Given the description of an element on the screen output the (x, y) to click on. 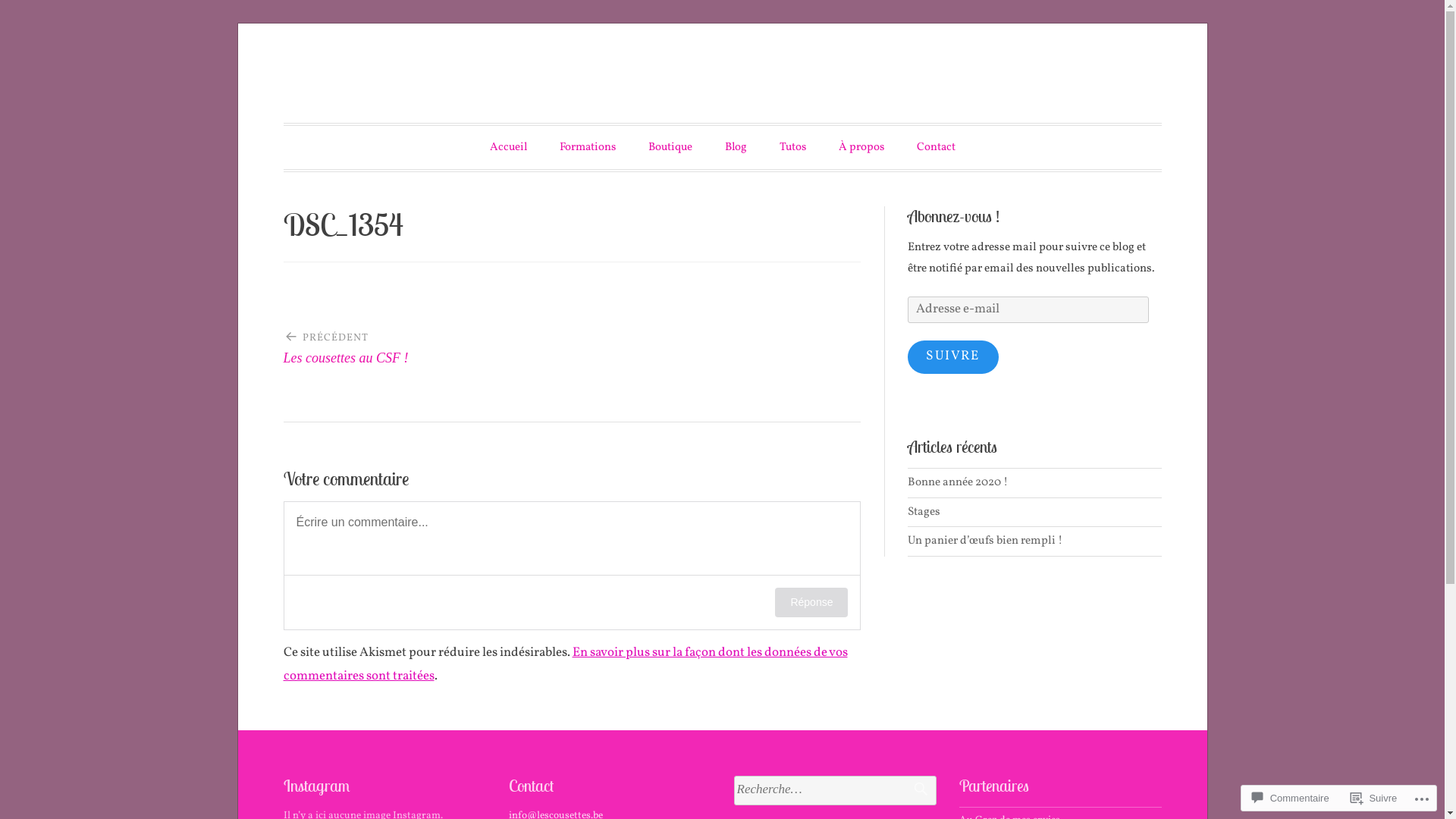
Contact Element type: text (934, 147)
Formations Element type: text (587, 147)
Stages Element type: text (923, 511)
SUIVRE Element type: text (952, 356)
Commentaire Element type: text (1290, 797)
Rechercher Element type: text (912, 790)
Boutique Element type: text (669, 147)
Blog Element type: text (735, 147)
Tutos Element type: text (792, 147)
Accueil Element type: text (508, 147)
Suivre Element type: text (1373, 797)
